Given the description of an element on the screen output the (x, y) to click on. 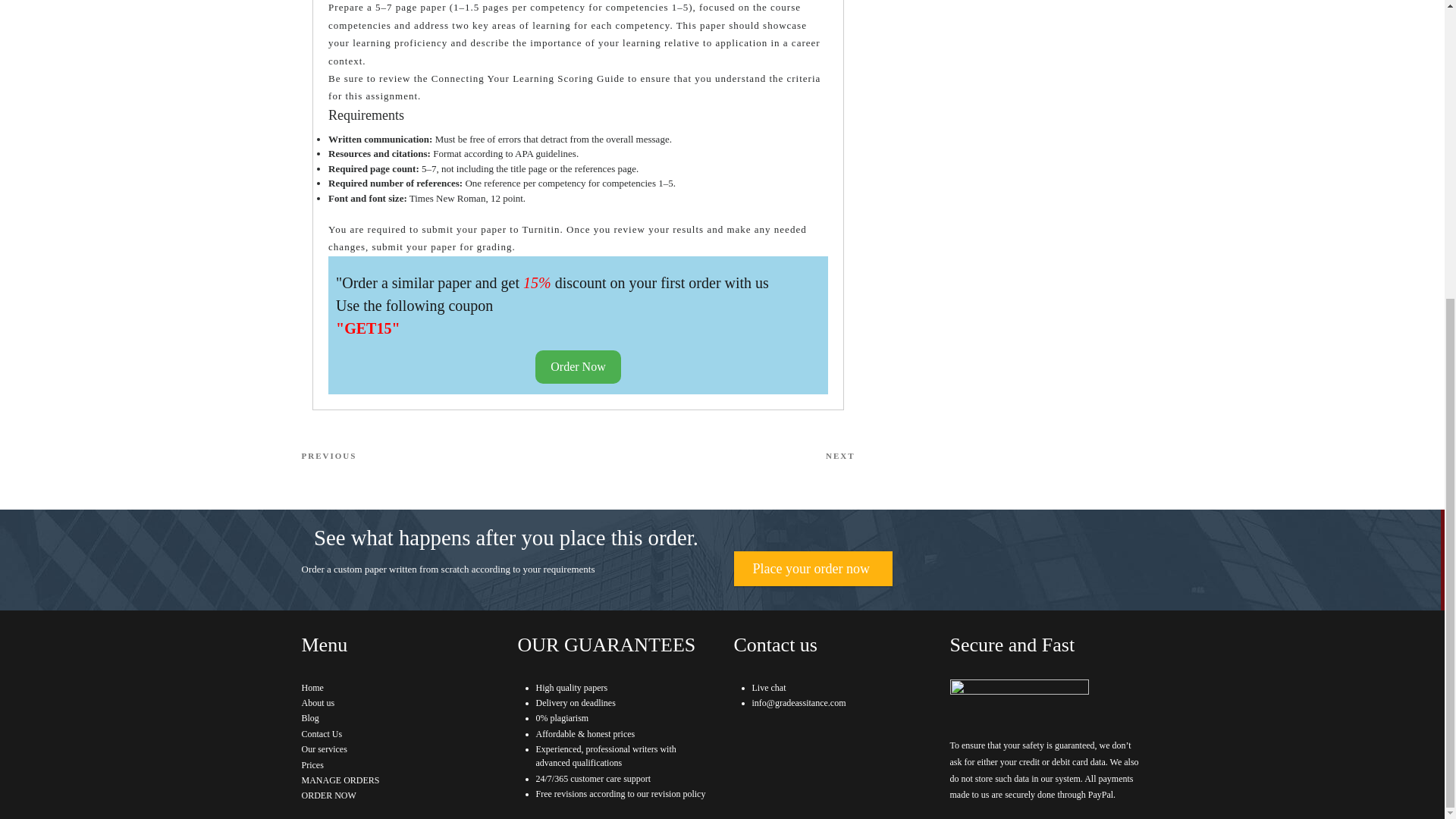
Our services (324, 748)
ORDER NOW (328, 795)
MANAGE ORDERS (340, 779)
Place your order now (812, 568)
Blog (309, 717)
Home (716, 455)
Prices (312, 687)
Contact Us (439, 455)
Order Now (312, 765)
About us (321, 733)
